Given the description of an element on the screen output the (x, y) to click on. 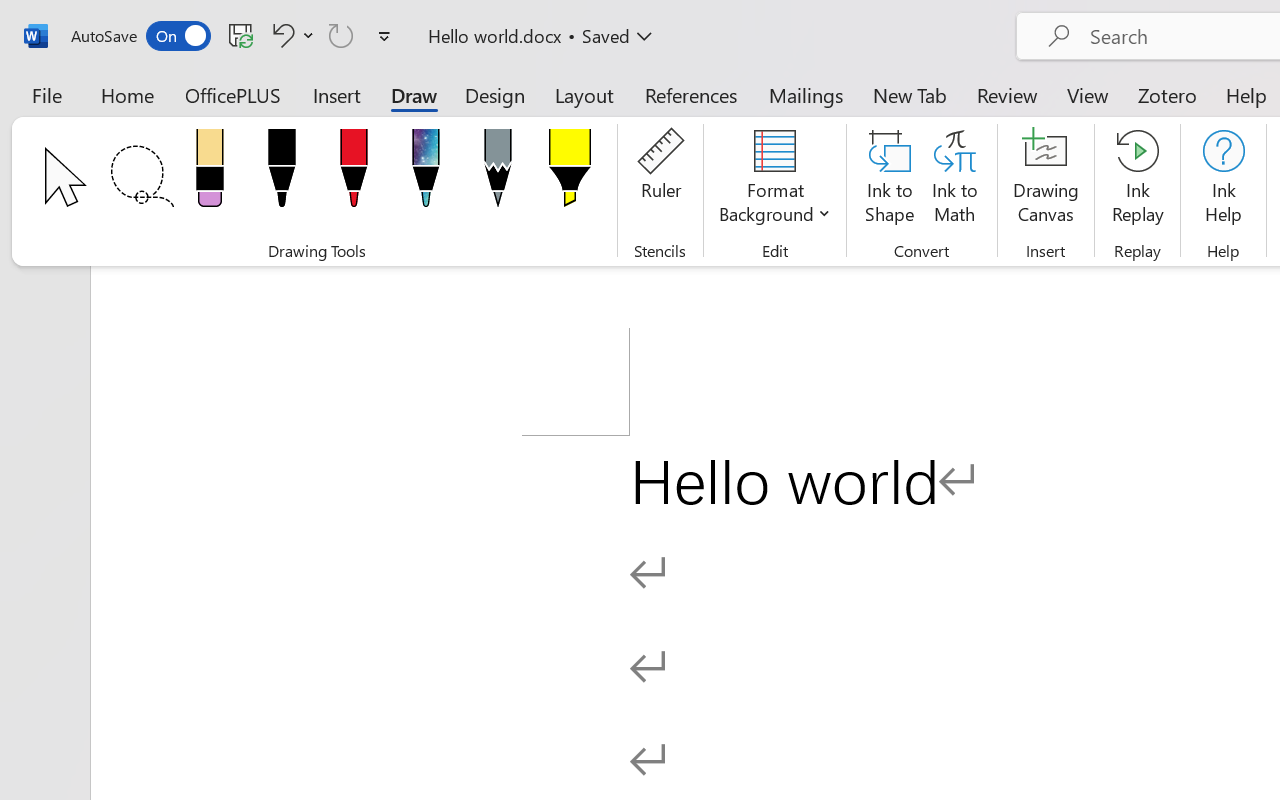
Ink Help (1223, 179)
Zotero (1166, 94)
AutoSave (140, 35)
Pencil: Gray, 1 mm (497, 173)
Format Background (774, 179)
More Options (308, 35)
Mailings (806, 94)
Layout (584, 94)
Ruler (660, 179)
File Tab (46, 94)
Can't Repeat (341, 35)
